Given the description of an element on the screen output the (x, y) to click on. 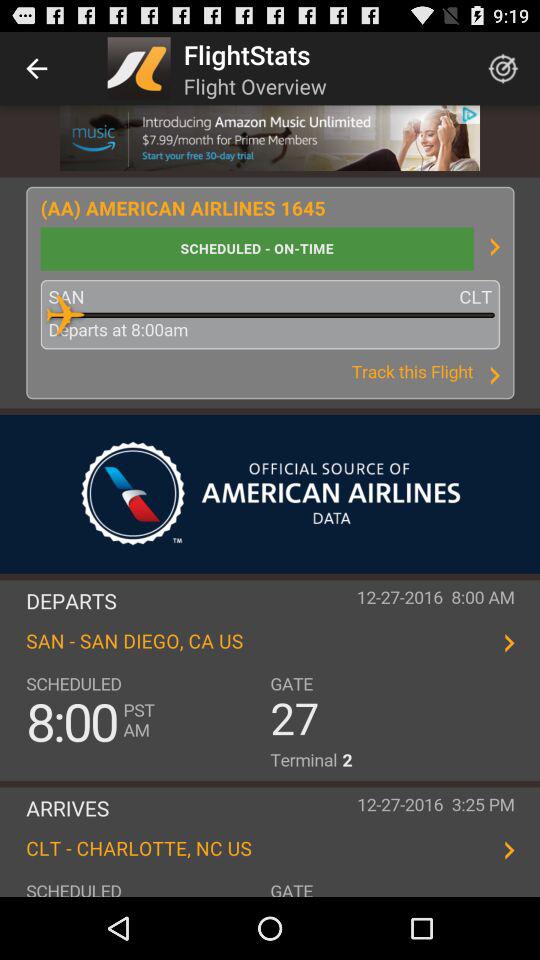
go to prime music (270, 137)
